Given the description of an element on the screen output the (x, y) to click on. 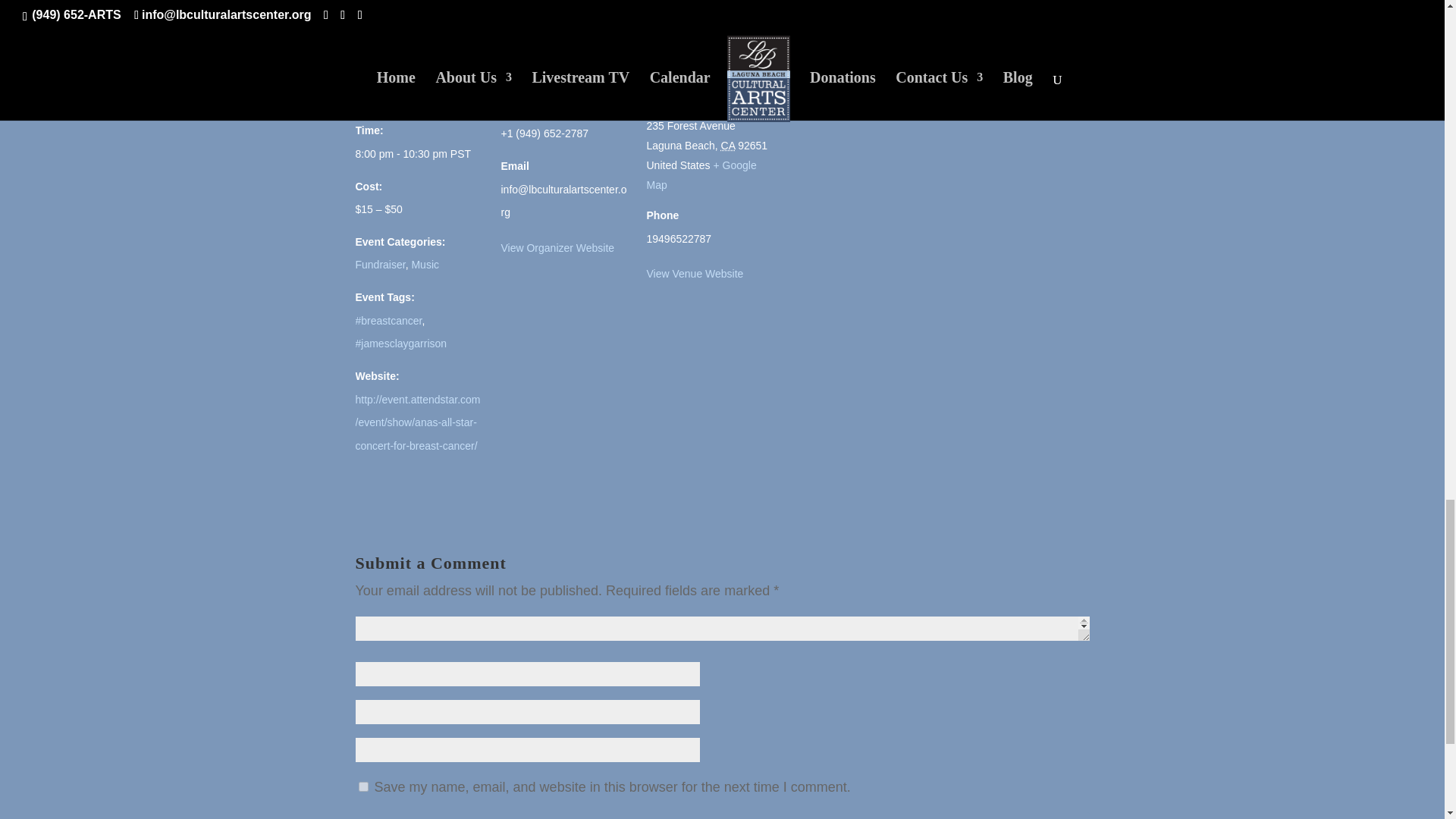
Submit Comment (1014, 815)
yes (363, 786)
2020-02-21 (418, 154)
Click to view a Google Map (700, 174)
Fundraiser (379, 264)
California (727, 145)
2020-02-21 (398, 98)
